Given the description of an element on the screen output the (x, y) to click on. 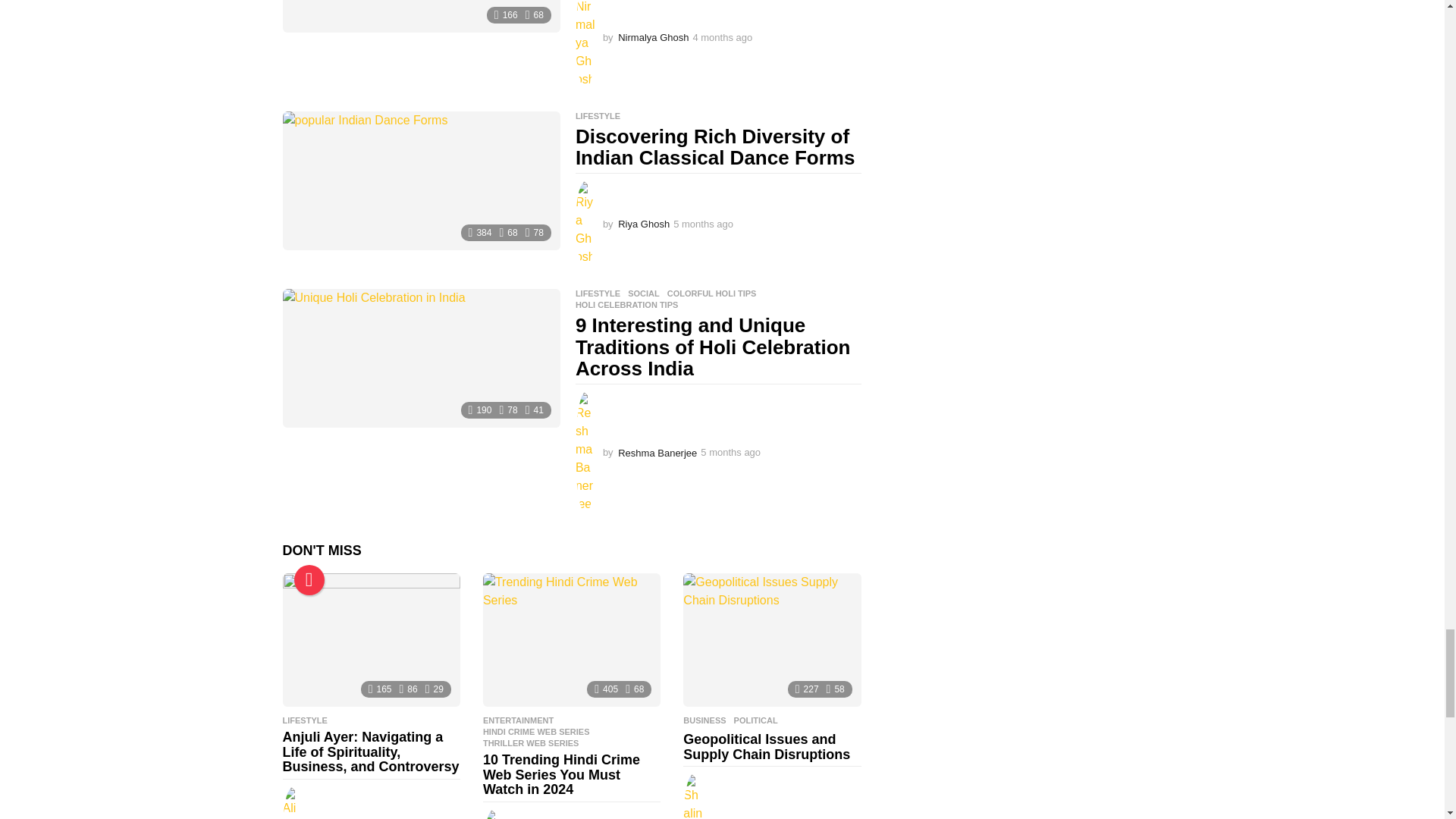
Discovering Rich Diversity of Indian Classical Dance Forms (420, 180)
Four Prominent Benefits of Using Customized Kitchen Cabinet (420, 16)
